Given the description of an element on the screen output the (x, y) to click on. 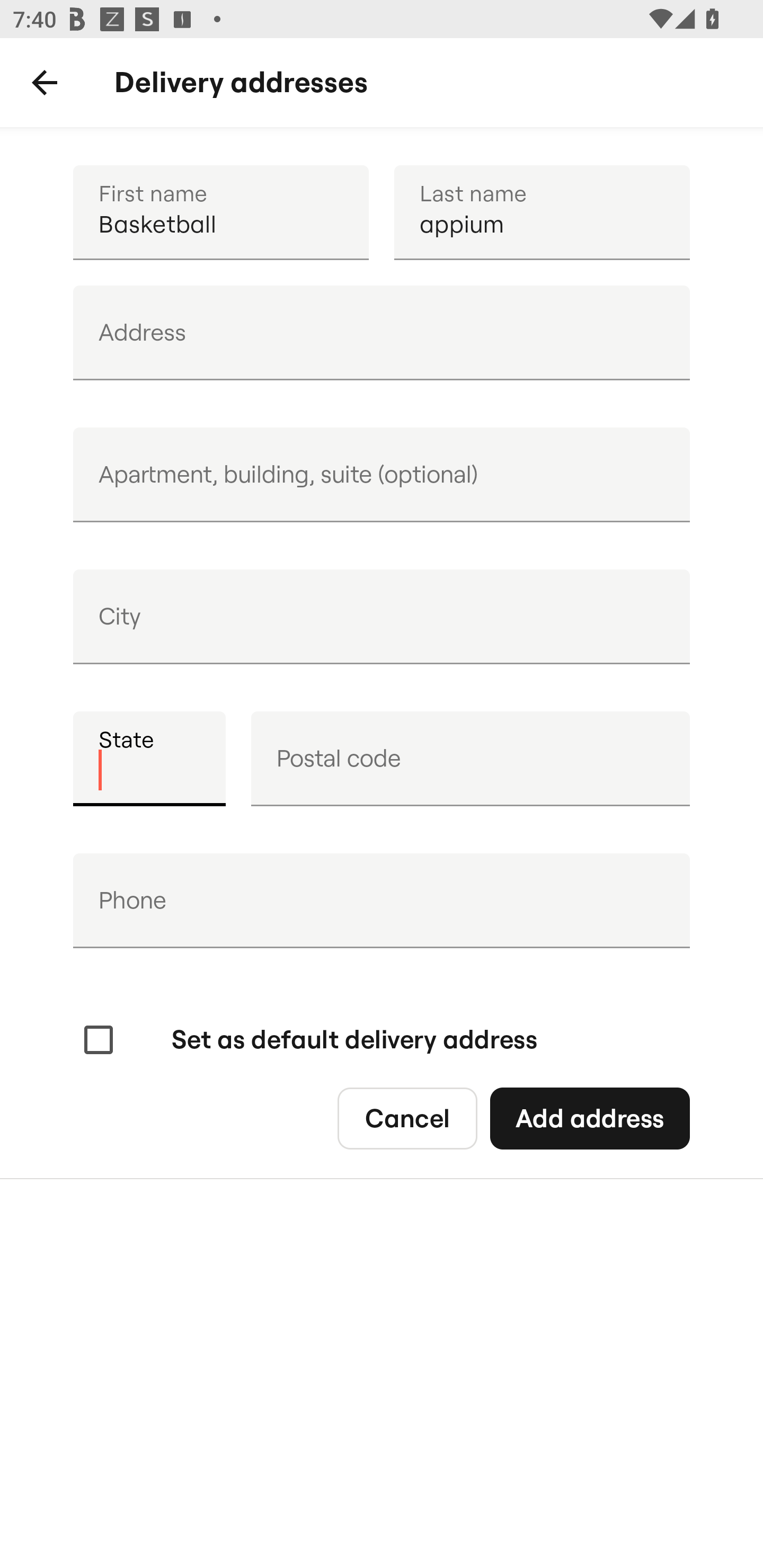
Back (44, 82)
Basketball (220, 212)
appium (541, 212)
Address (381, 333)
Apartment, building, suite (optional) (381, 475)
City (381, 616)
State (149, 758)
Postal code (470, 758)
Phone (381, 900)
Set as default delivery address (308, 1039)
Cancel (407, 1118)
Add address (589, 1118)
